Given the description of an element on the screen output the (x, y) to click on. 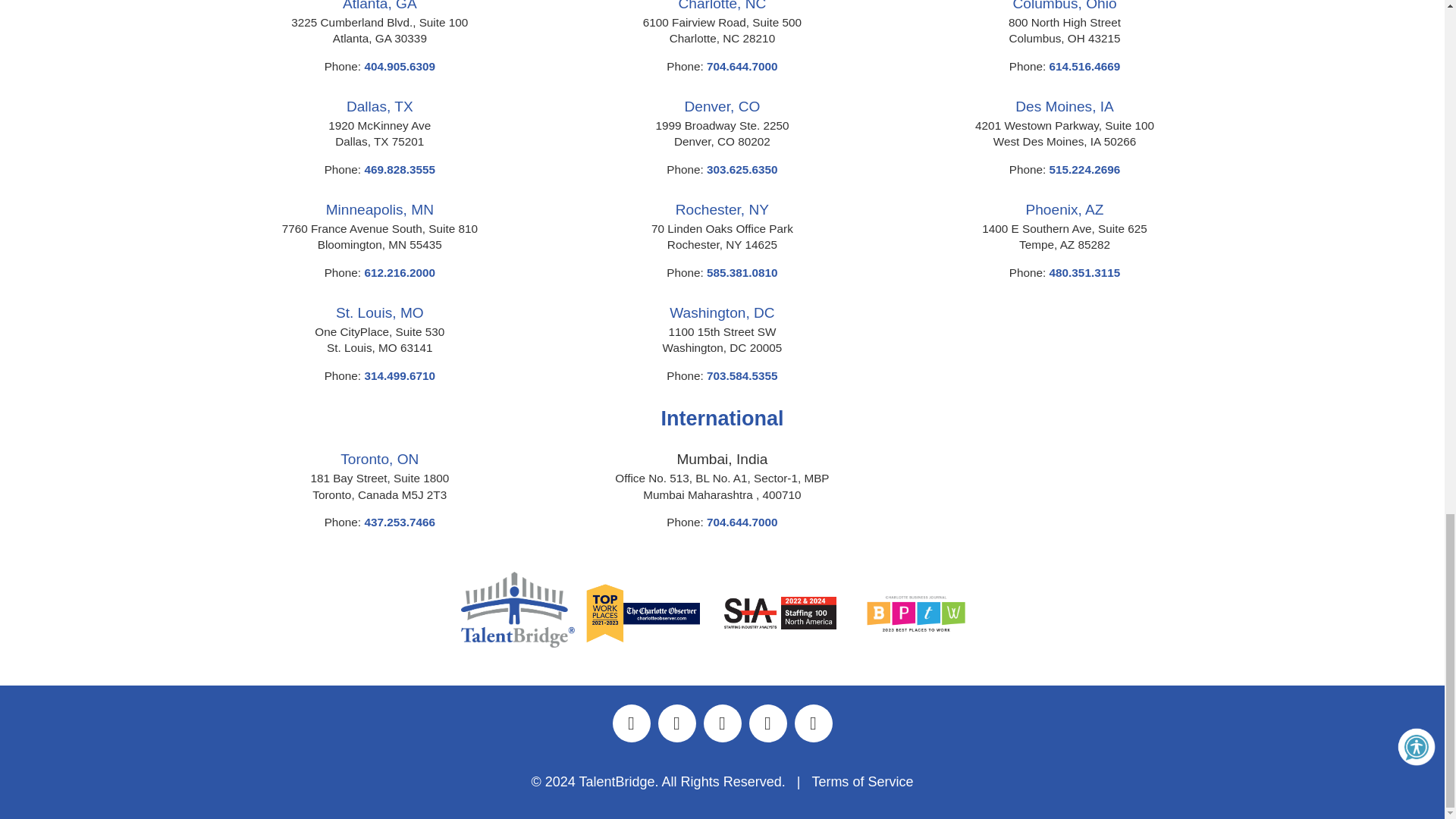
Columbus, Ohio (1064, 5)
Atlanta, GA (379, 5)
Youtube (812, 723)
Facebook (675, 723)
303.625.6350 (741, 169)
Des Moines, IA (1063, 106)
404.905.6309 (399, 65)
Charlotte, NC (722, 5)
704.644.7000 (741, 65)
Instagram (722, 723)
Denver, CO (722, 106)
TikTok (767, 723)
614.516.4669 (1085, 65)
Minneapolis, MN (379, 209)
LinkedIn (630, 723)
